Given the description of an element on the screen output the (x, y) to click on. 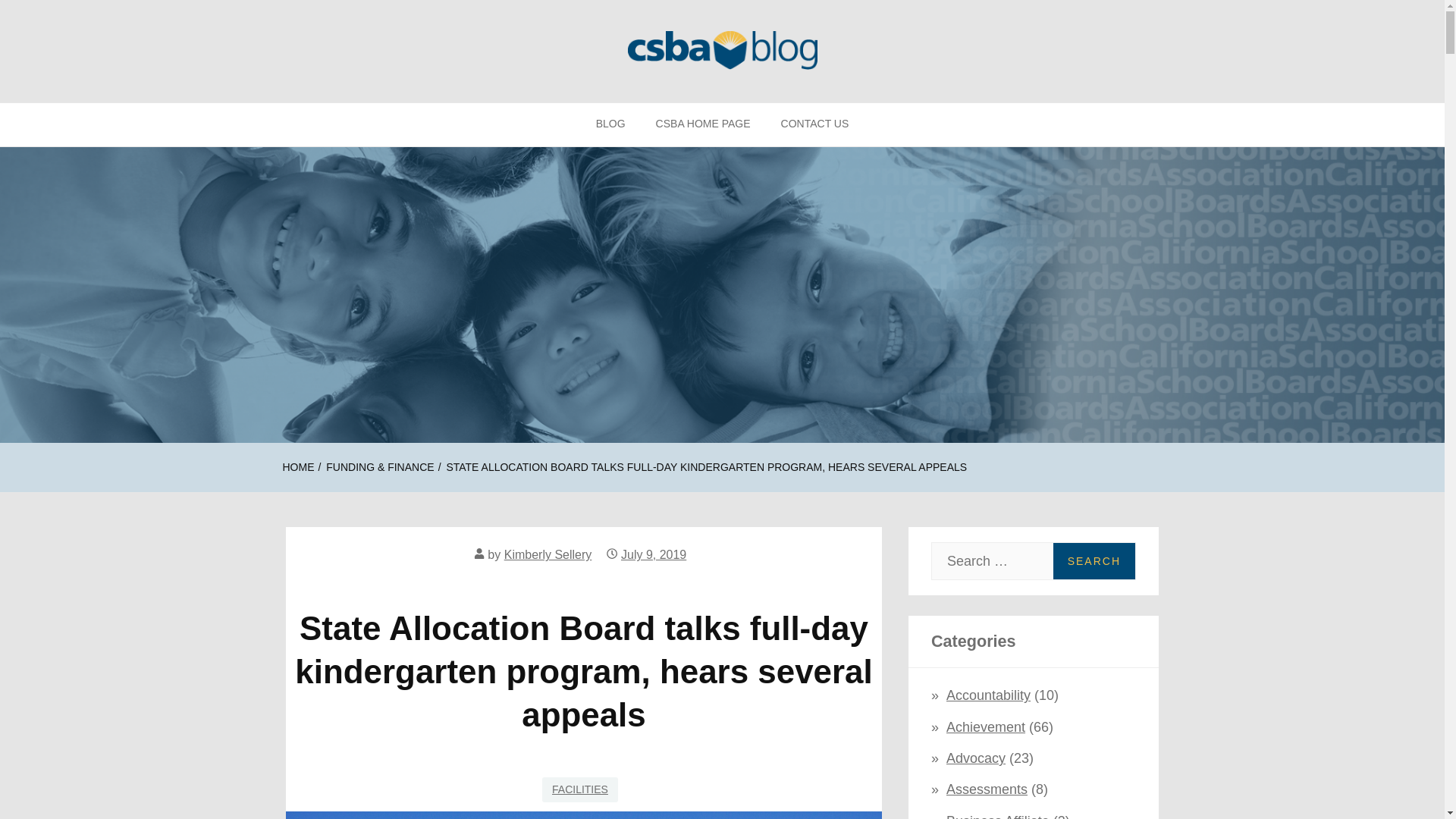
CSBA HOME PAGE (702, 124)
HOME (298, 467)
Accountability (988, 694)
Search (1093, 560)
BLOG (610, 124)
CSBA Blog (88, 127)
Search (1093, 560)
July 9, 2019 (653, 554)
Business Affiliate (997, 816)
Achievement (985, 726)
CONTACT US (814, 124)
Search (1093, 560)
Kimberly Sellery (547, 554)
Advocacy (976, 758)
FACILITIES (579, 789)
